Given the description of an element on the screen output the (x, y) to click on. 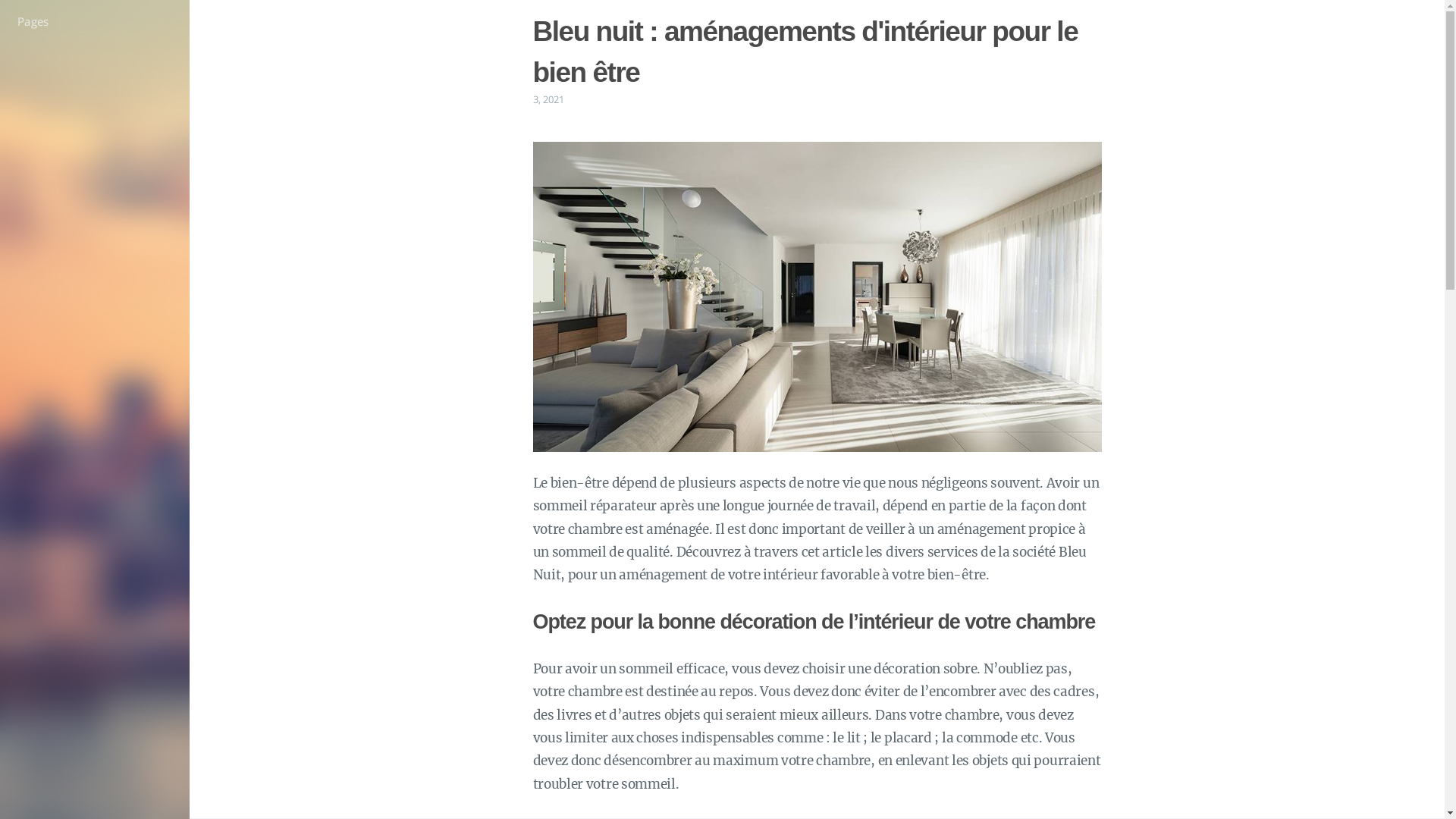
Pages Element type: text (94, 20)
